Given the description of an element on the screen output the (x, y) to click on. 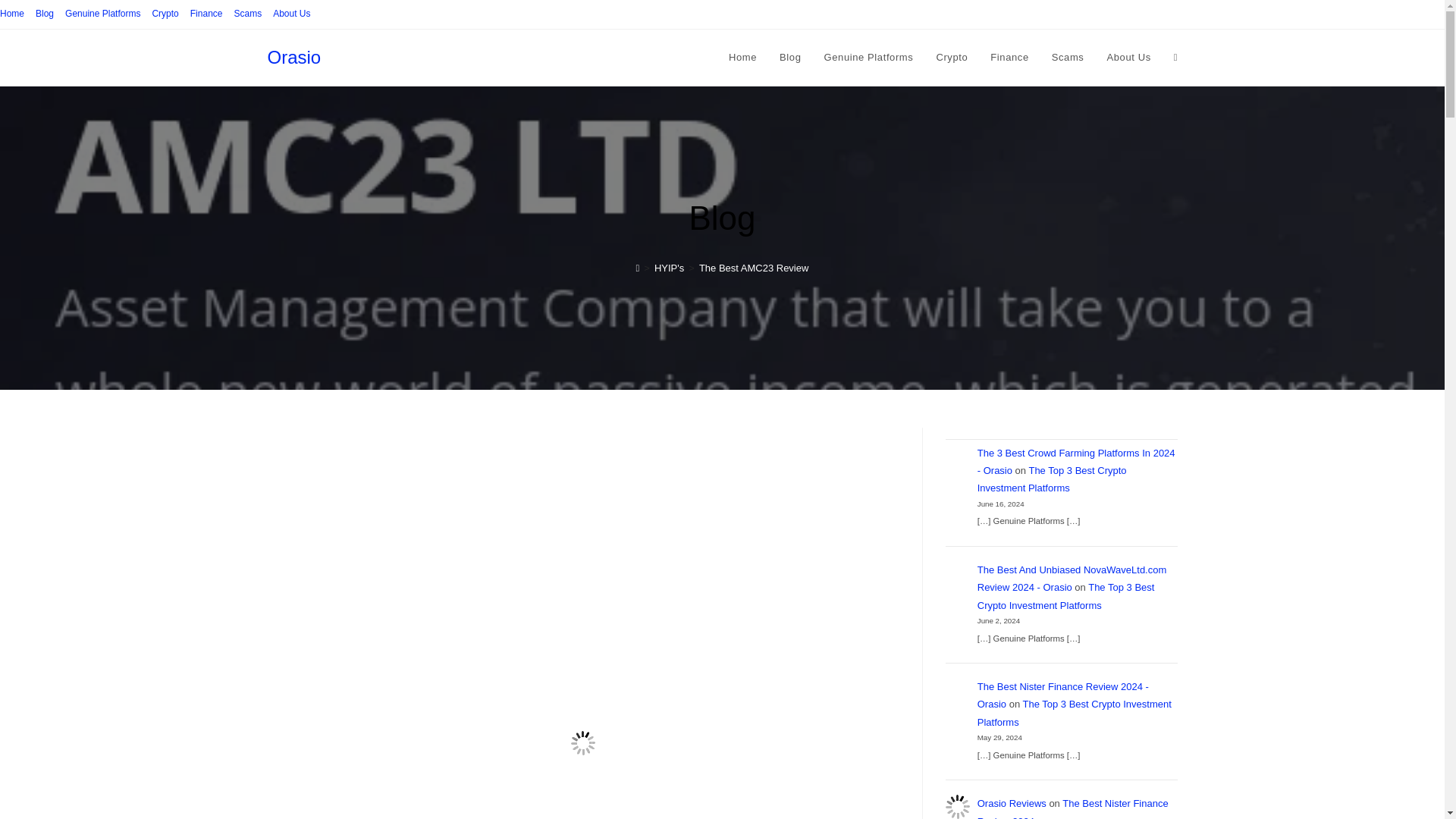
Scams (247, 13)
The Best AMC23 Review (753, 267)
Home (742, 57)
Crypto (951, 57)
Finance (206, 13)
HYIP's (668, 267)
About Us (1127, 57)
Finance (1008, 57)
Home (12, 13)
Orasio (293, 56)
